Given the description of an element on the screen output the (x, y) to click on. 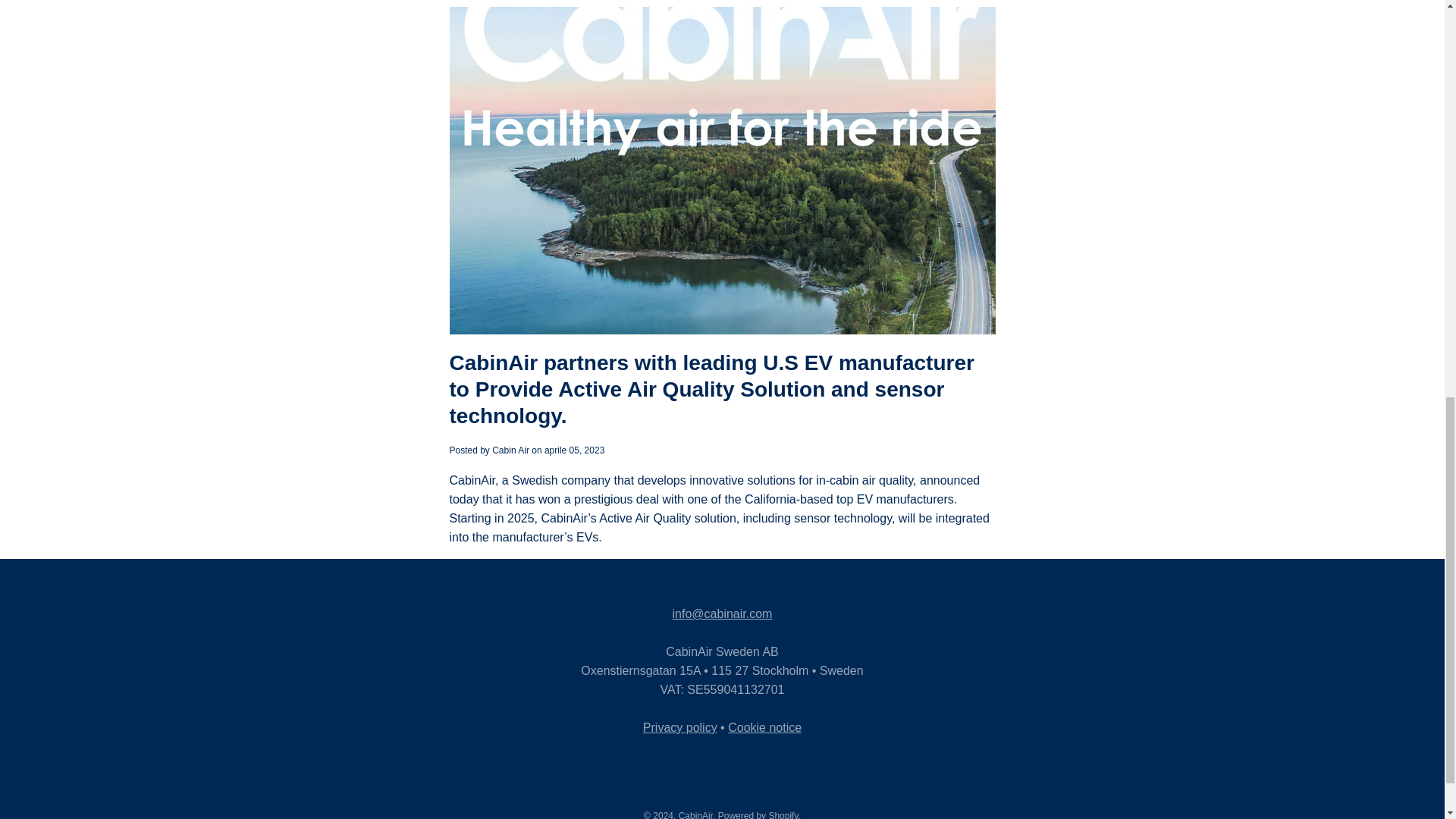
Cookie notice (765, 727)
Privacy policy (680, 727)
